Given the description of an element on the screen output the (x, y) to click on. 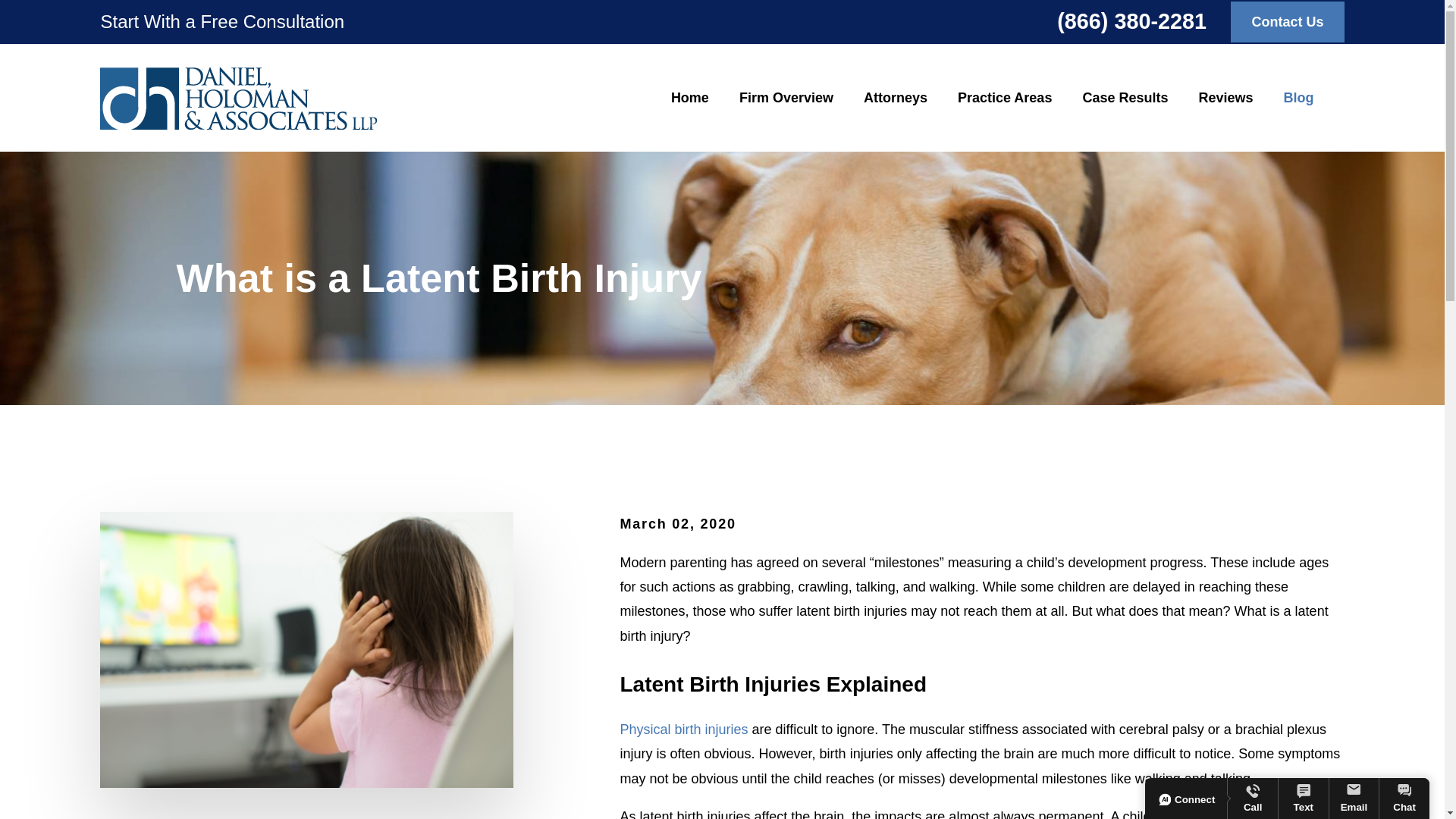
Attorneys (895, 97)
Contact Us (1286, 21)
Home (238, 97)
Reviews (1225, 97)
Practice Areas (1004, 97)
Firm Overview (785, 97)
Case Results (1124, 97)
